Given the description of an element on the screen output the (x, y) to click on. 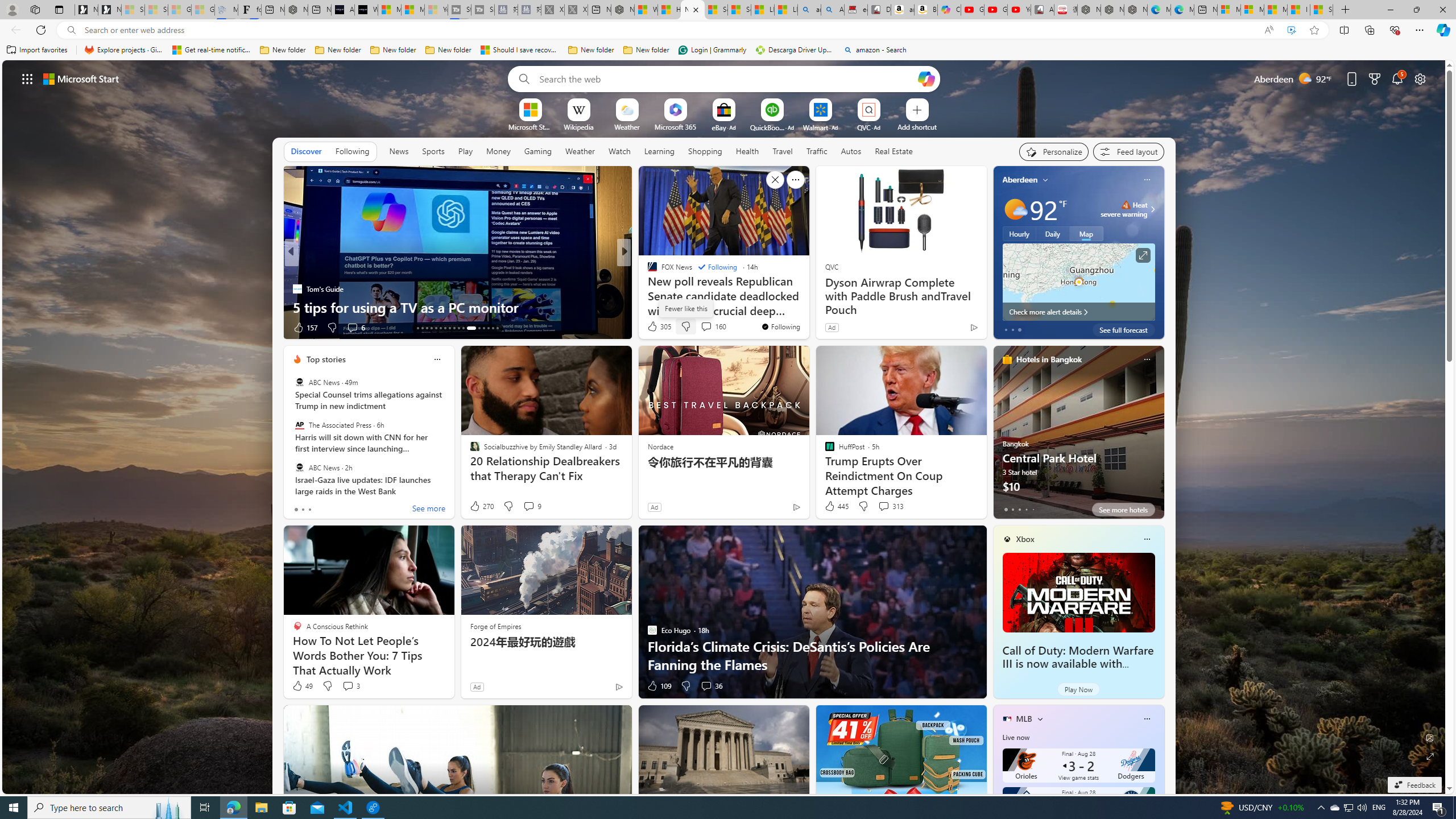
AutomationID: tab-23 (462, 328)
Nordace - #1 Japanese Best-Seller - Siena Smart Backpack (296, 9)
View comments 6 Comment (355, 327)
Play (465, 151)
My location (1045, 179)
Travel (782, 151)
hotels-header-icon (1006, 358)
Microsoft account | Privacy (1252, 9)
Back (13, 29)
New Tab (1346, 9)
Health (746, 151)
Colin Allred Two Points Behind Ted Cruz in Second Texas Poll (807, 298)
Start the conversation (703, 327)
AutomationID: backgroundImagePicture (723, 426)
Open Copilot (925, 78)
